Given the description of an element on the screen output the (x, y) to click on. 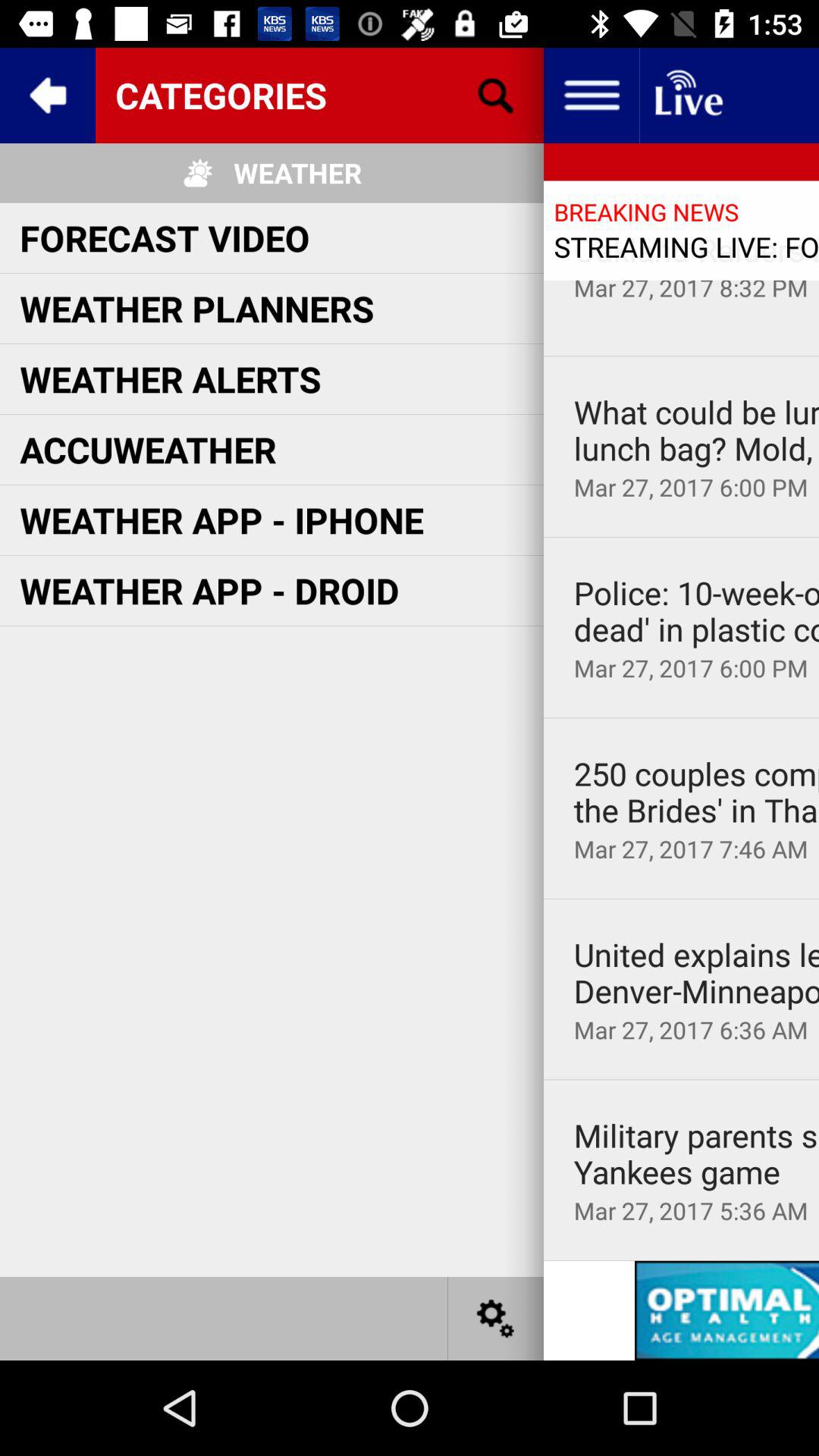
turn on the icon below the breaking news item (696, 249)
